Given the description of an element on the screen output the (x, y) to click on. 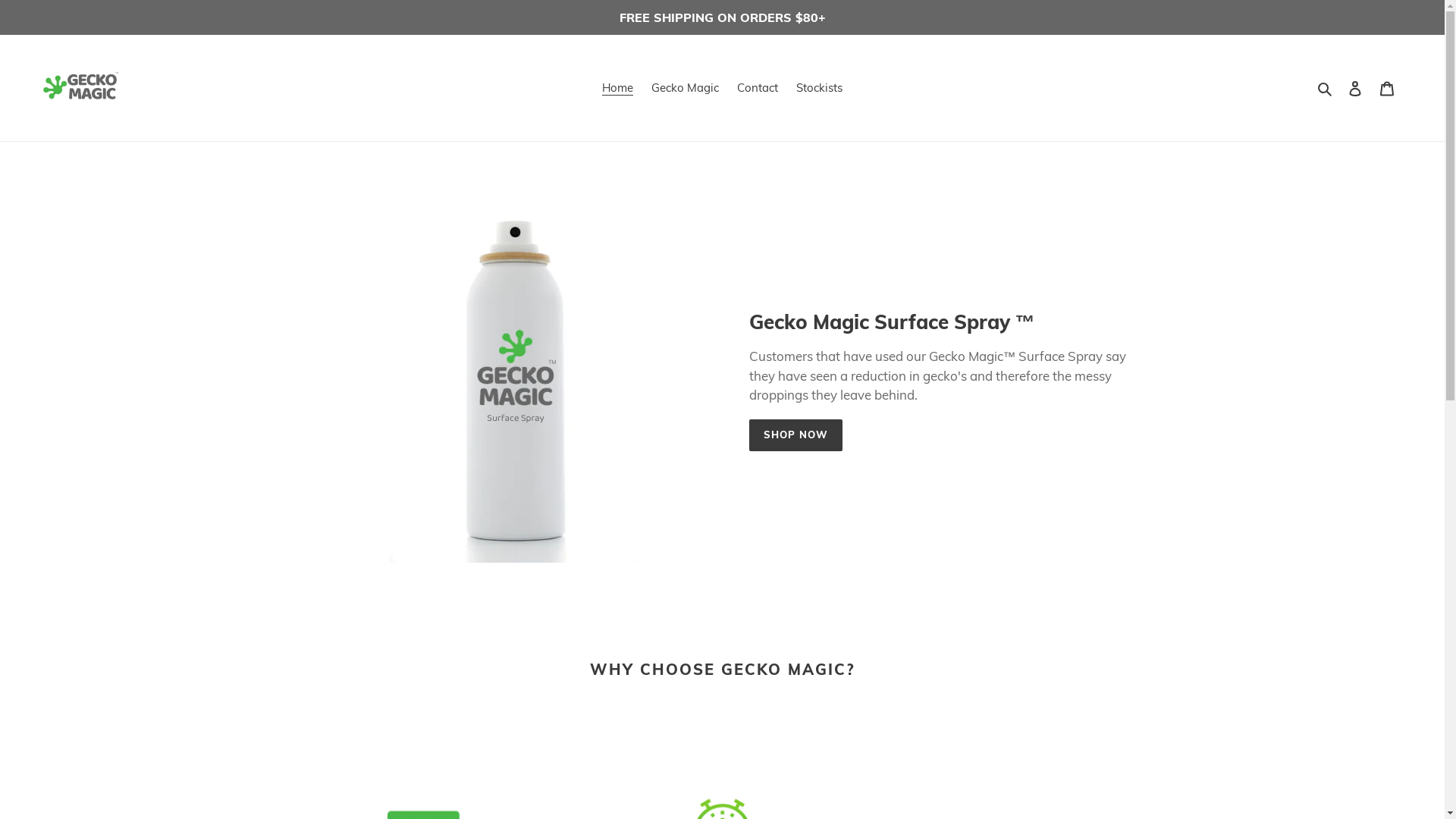
Stockists Element type: text (819, 88)
Log in Element type: text (1355, 88)
Gecko Magic Element type: text (684, 88)
Home Element type: text (617, 88)
Search Element type: text (1325, 87)
Cart Element type: text (1386, 88)
Contact Element type: text (757, 88)
SHOP NOW Element type: text (795, 435)
